Given the description of an element on the screen output the (x, y) to click on. 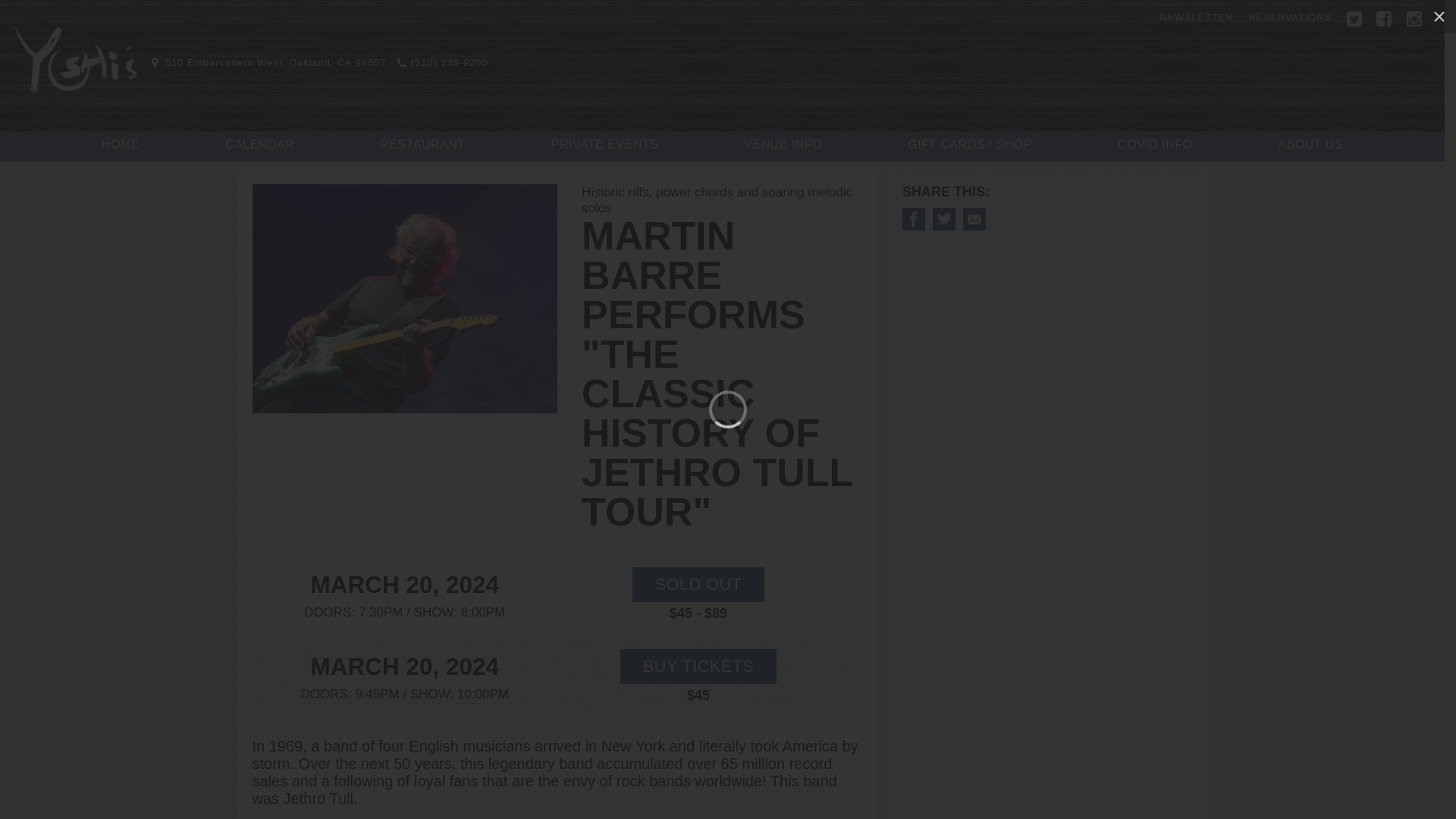
NEWSLETTER (1195, 16)
RESTAURANT (422, 144)
COVID INFO (1155, 144)
CALENDAR (259, 144)
BUY TICKETS (698, 666)
ABOUT US (1310, 144)
HOME (120, 144)
PRIVATE EVENTS (605, 144)
RESERVATIONS (1289, 16)
VENUE INFO (783, 144)
SOLD OUT (697, 584)
510 Embarcadero West, Oakland, CA 94607 (268, 61)
